Given the description of an element on the screen output the (x, y) to click on. 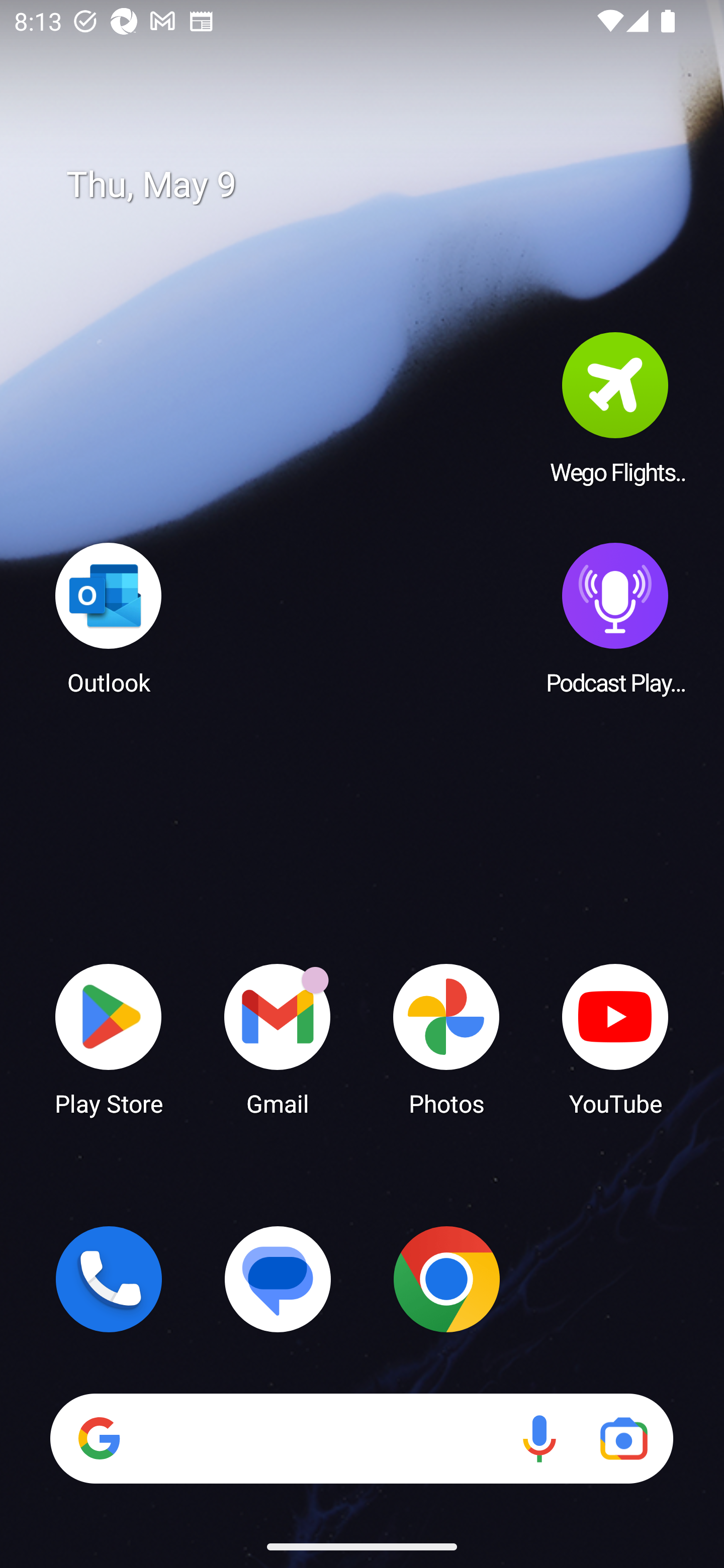
Thu, May 9 (375, 184)
Wego Flights & Hotels (615, 407)
Outlook (108, 617)
Podcast Player (615, 617)
Play Store (108, 1038)
Gmail Gmail has 18 notifications (277, 1038)
Photos (445, 1038)
YouTube (615, 1038)
Phone (108, 1279)
Messages (277, 1279)
Chrome (446, 1279)
Search Voice search Google Lens (361, 1438)
Voice search (539, 1438)
Google Lens (623, 1438)
